Given the description of an element on the screen output the (x, y) to click on. 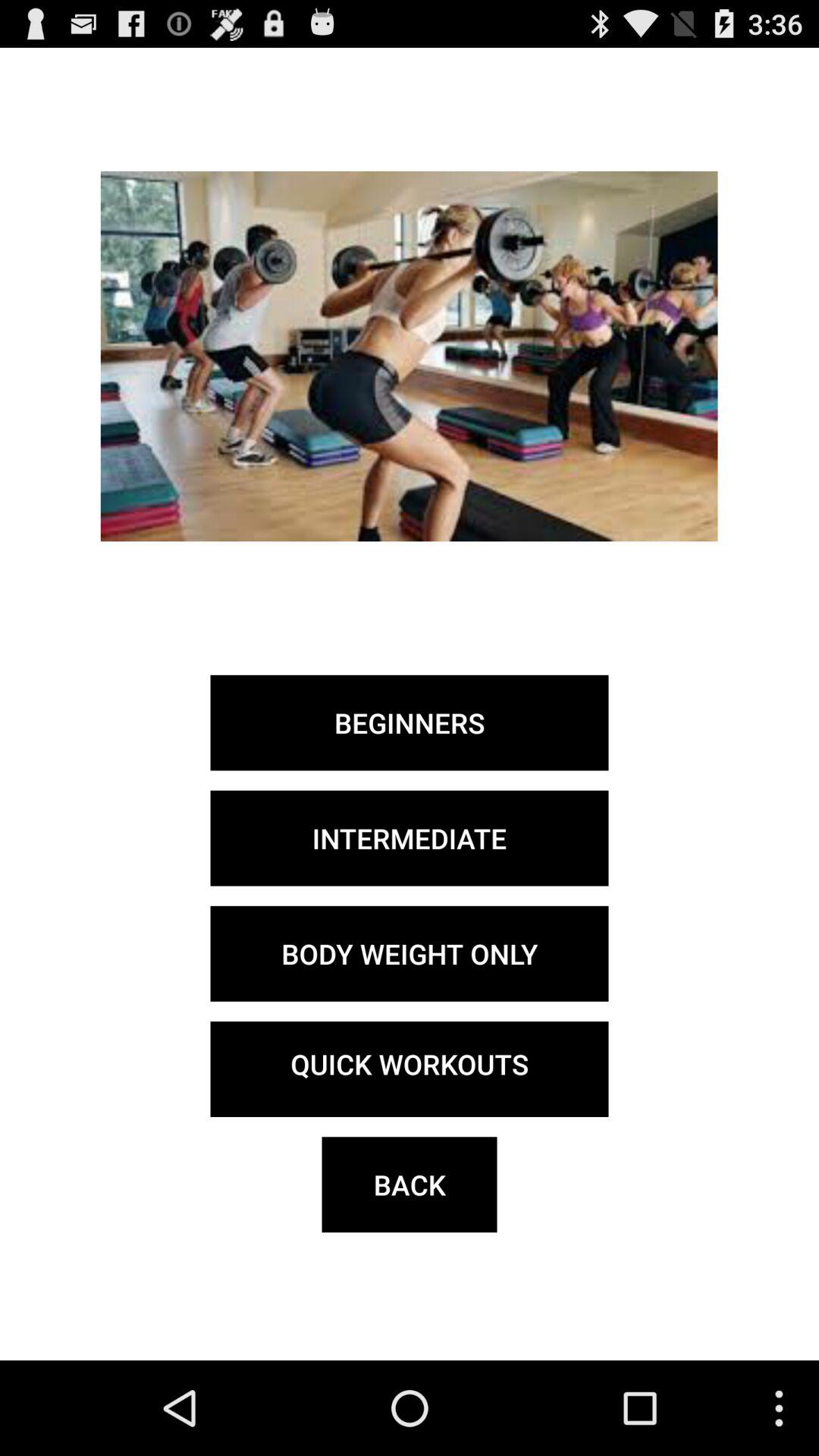
select body weight only item (409, 953)
